Given the description of an element on the screen output the (x, y) to click on. 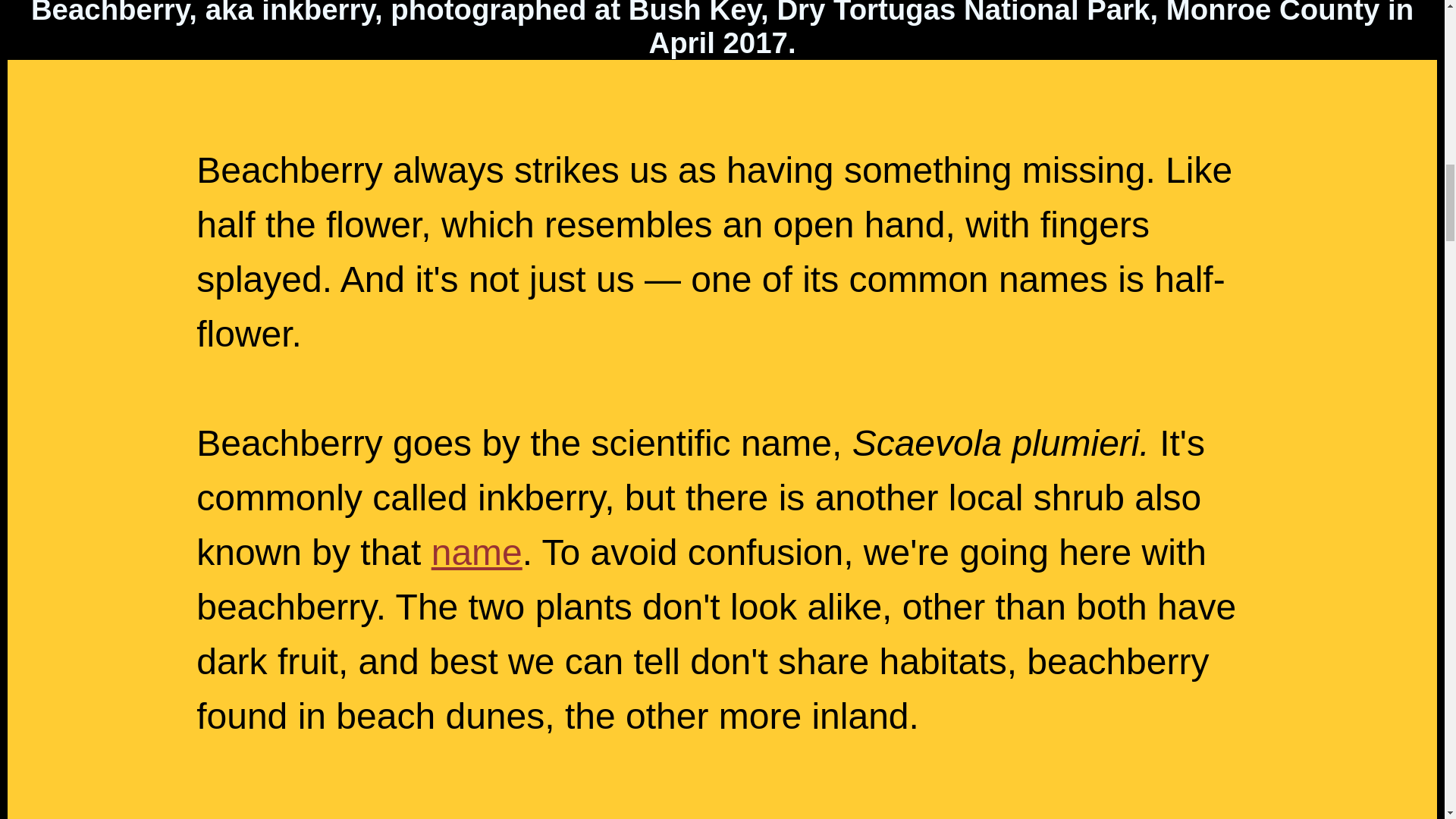
Advertisement (721, 781)
name (476, 552)
